Given the description of an element on the screen output the (x, y) to click on. 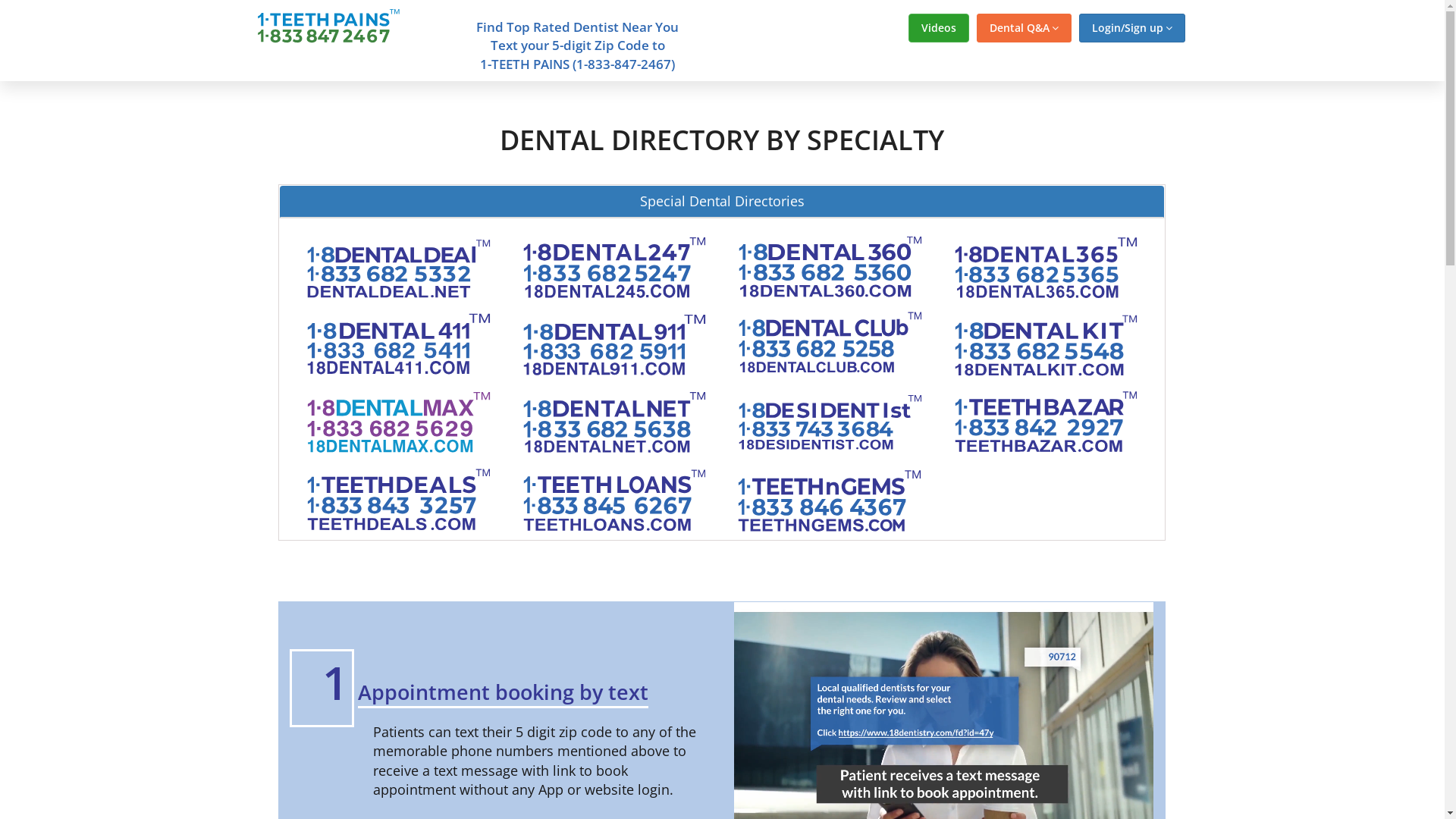
Videos Element type: text (938, 27)
Login/Sign up Element type: text (1131, 27)
Dental Q&A Element type: text (1023, 27)
Special Dental Directories Element type: text (721, 201)
